Given the description of an element on the screen output the (x, y) to click on. 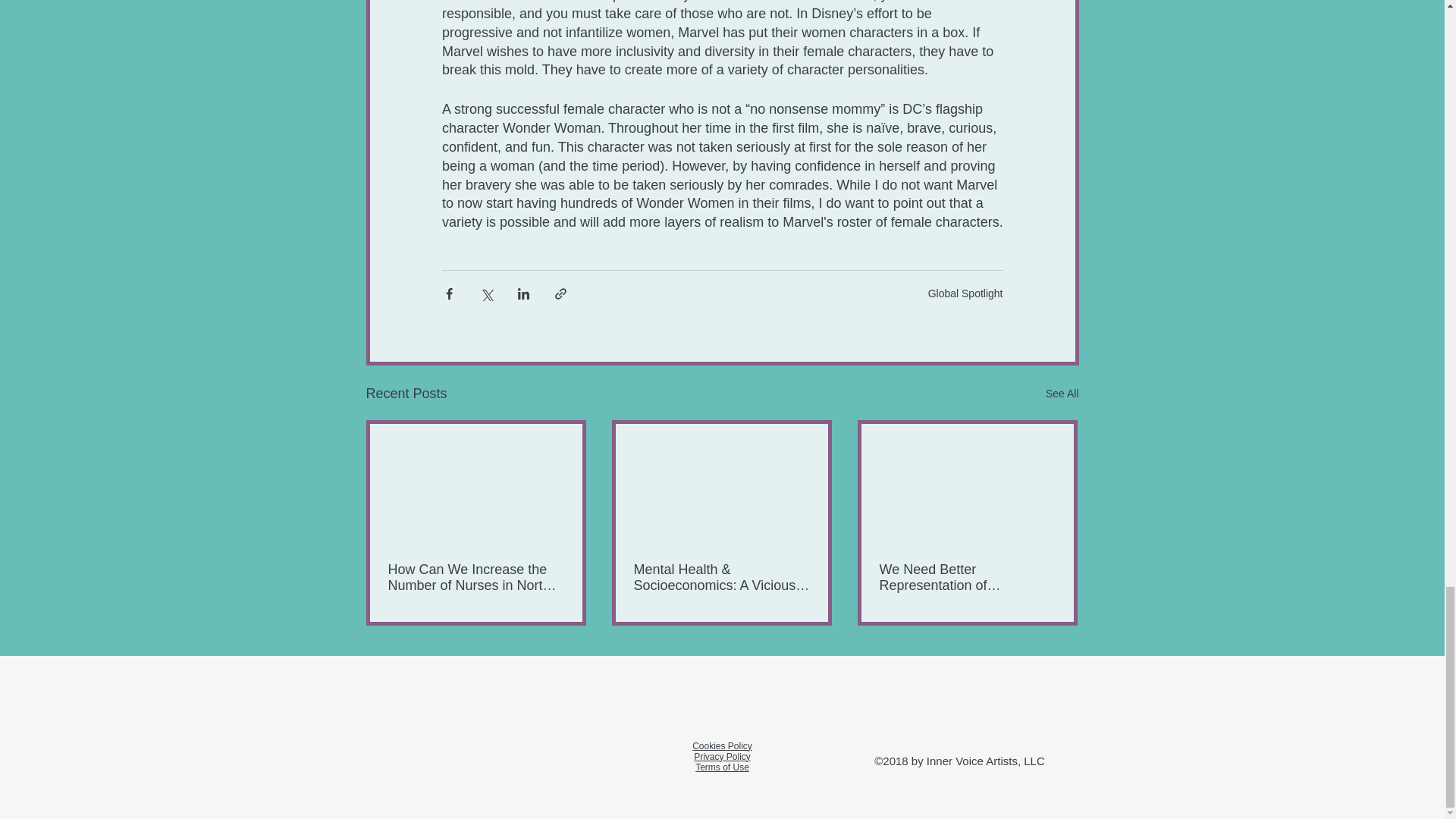
Terms of Use (722, 766)
Global Spotlight (965, 292)
Cookies Policy (722, 745)
How Can We Increase the Number of Nurses in North America? (476, 576)
We Need Better Representation of Psychotherapy on Screen (967, 576)
Privacy Policy (722, 756)
See All (1061, 393)
